Given the description of an element on the screen output the (x, y) to click on. 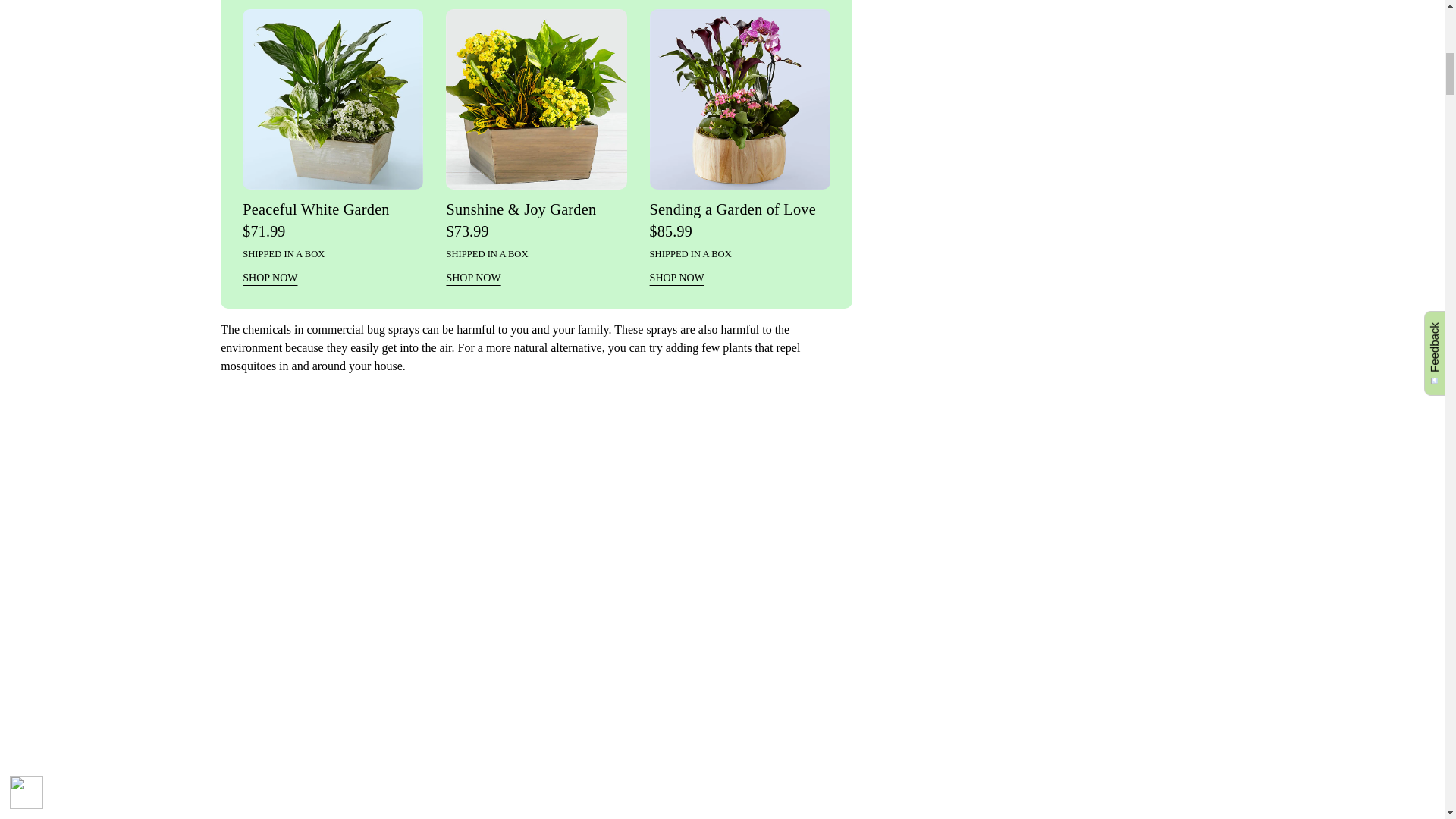
SHOP NOW (472, 277)
SHOP NOW (270, 277)
SHOP NOW (676, 277)
